Given the description of an element on the screen output the (x, y) to click on. 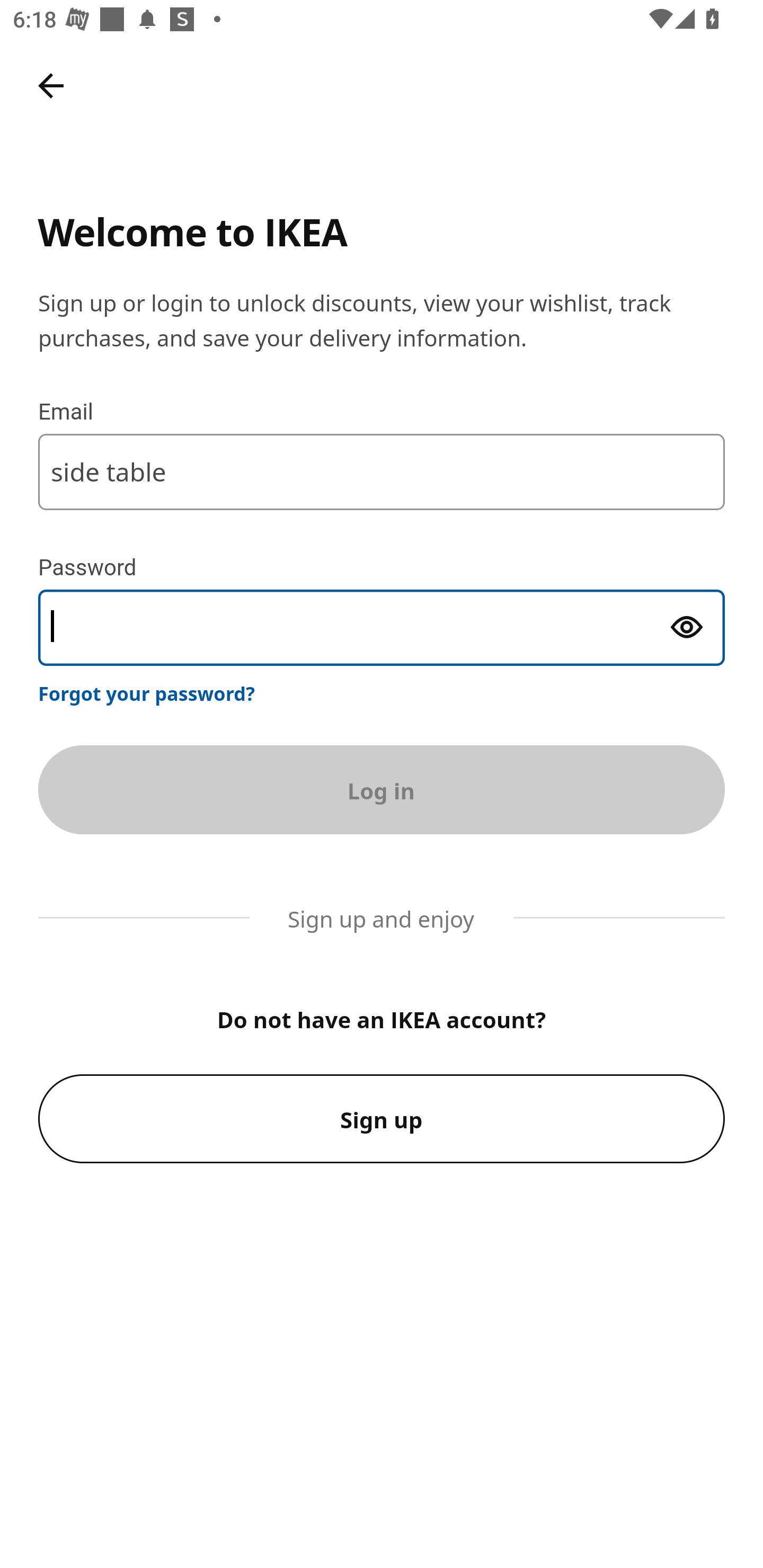
side table (381, 471)
Forgot your password? (146, 692)
Log in (381, 789)
Sign up (381, 1118)
